Given the description of an element on the screen output the (x, y) to click on. 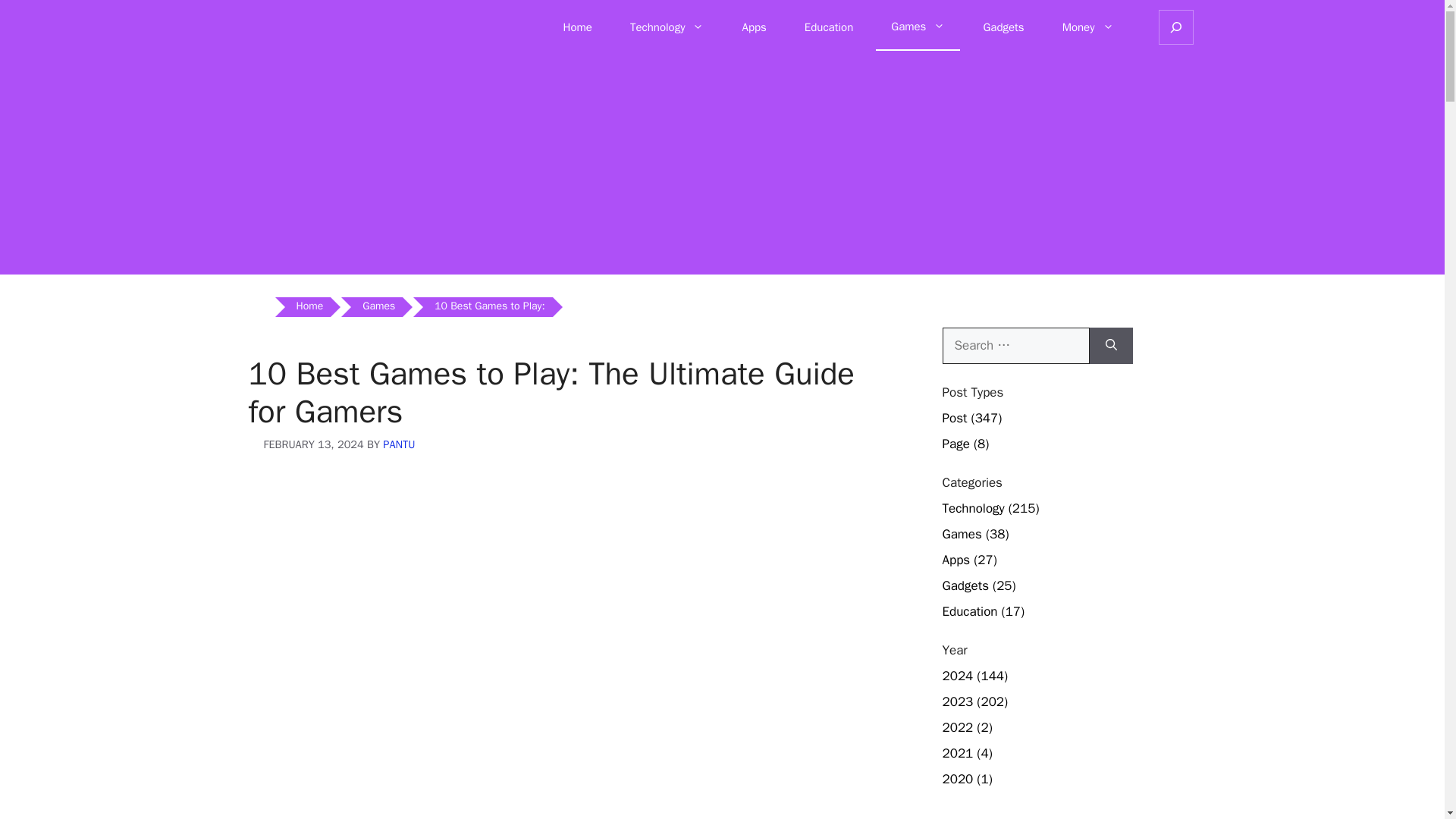
Money (1087, 26)
Gadgets (1003, 26)
Education (828, 26)
PANTU (398, 444)
10 Best Games to Play: (488, 306)
Games (379, 306)
Technology (666, 26)
View all posts by Pantu (398, 444)
10 Best Games to Play: The Ultimate Guide for Gamers (488, 306)
Home (309, 306)
Games (917, 27)
Apps (753, 26)
Games (379, 306)
Home (309, 306)
